Given the description of an element on the screen output the (x, y) to click on. 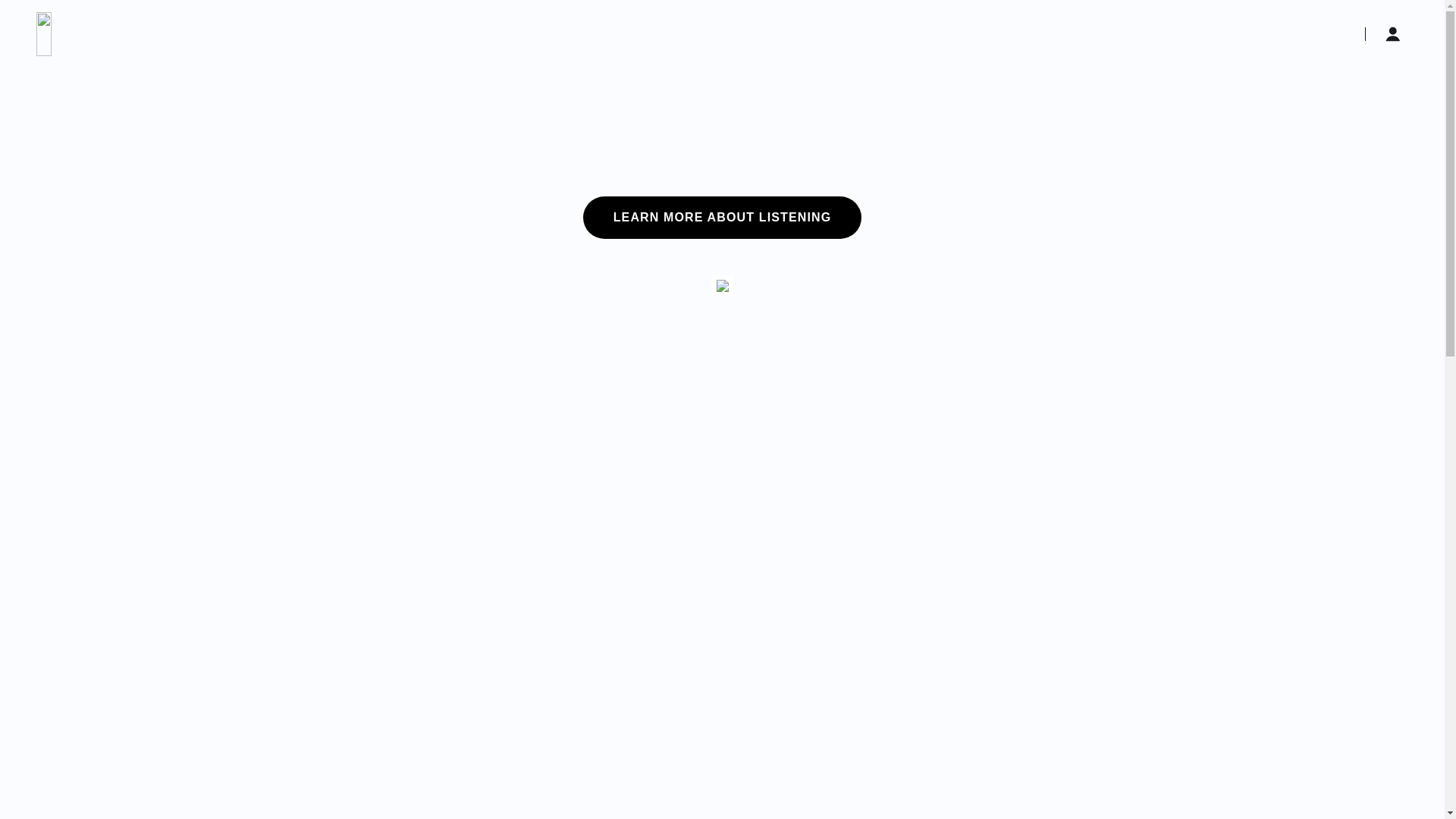
LEARN MORE ABOUT LISTENING Element type: text (722, 217)
